Given the description of an element on the screen output the (x, y) to click on. 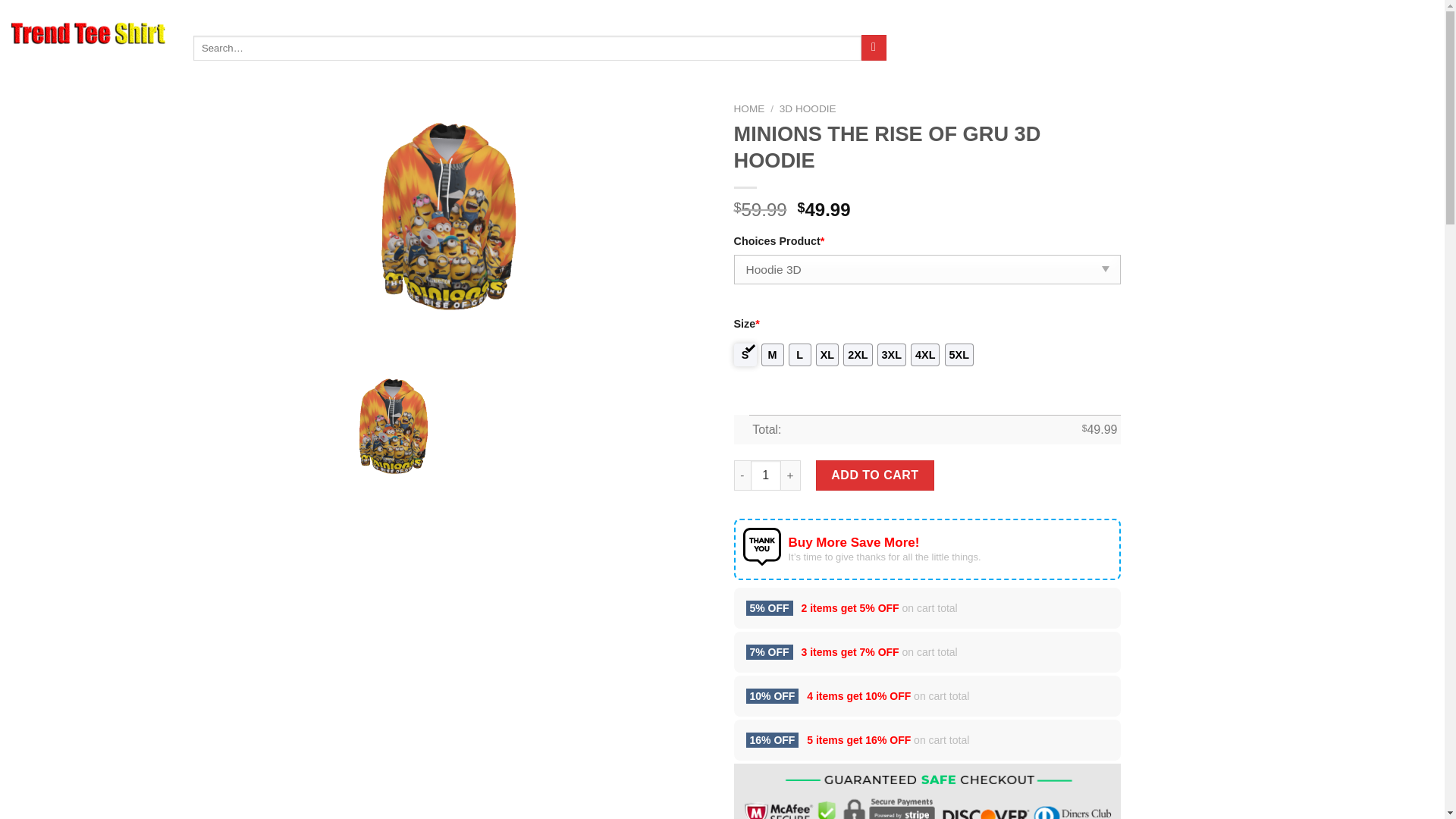
T-SHIRT (247, 19)
XL (826, 354)
S (745, 354)
M (772, 354)
BLANKET (535, 19)
L (799, 354)
3D HOODIE (806, 108)
3D T-SHIRT (305, 19)
Shop Trending T-shirt Online (88, 32)
3XL (891, 354)
